Given the description of an element on the screen output the (x, y) to click on. 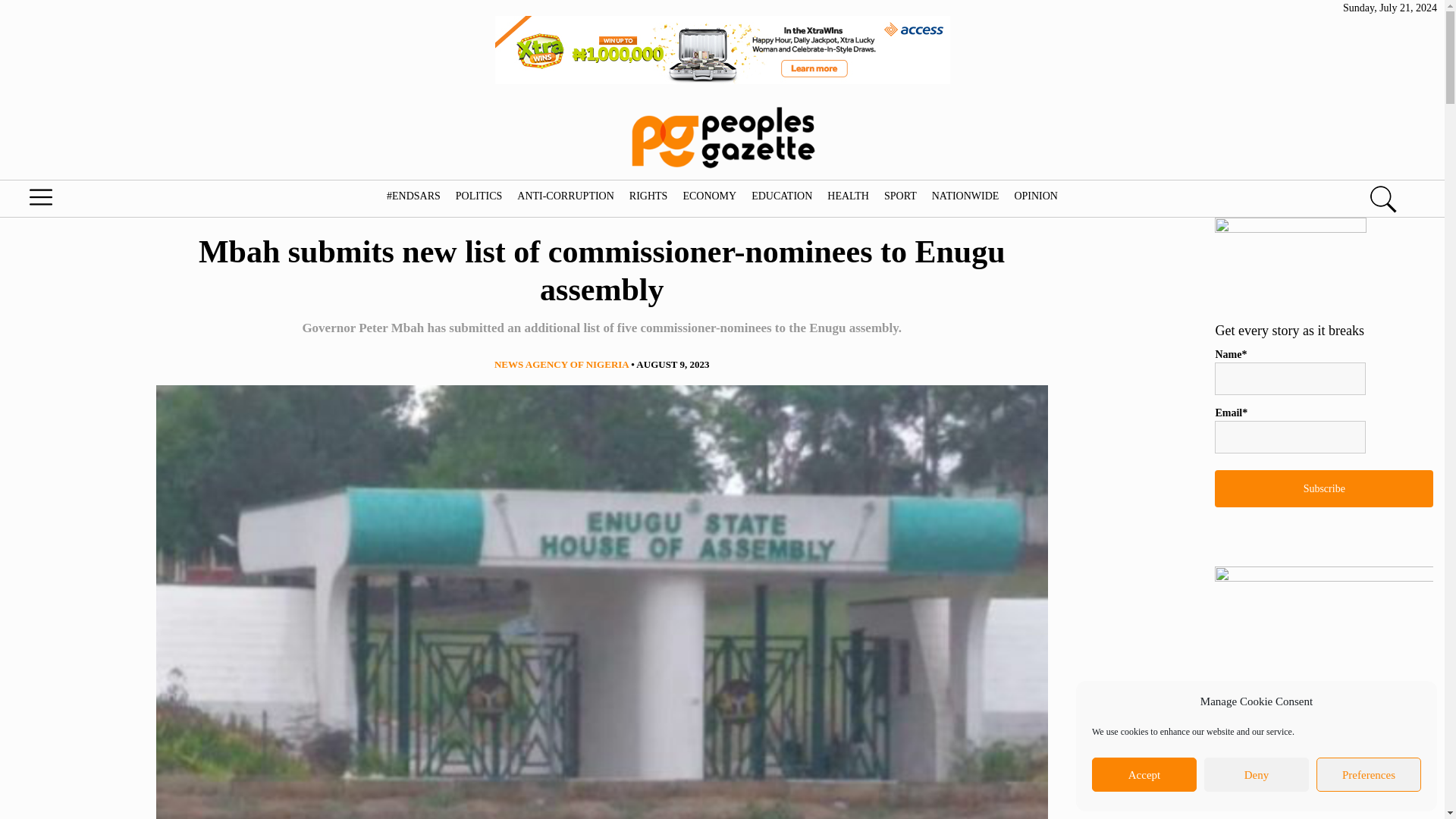
Subscribe (1323, 488)
POLITICS (478, 195)
Posts by News Agency of Nigeria (561, 364)
Deny (1256, 774)
NATIONWIDE (965, 195)
ANTI-CORRUPTION (565, 195)
RIGHTS (648, 195)
OPINION (1035, 195)
ECONOMY (708, 195)
Accept (1144, 774)
Preferences (1368, 774)
SPORT (900, 195)
HEALTH (848, 195)
EDUCATION (781, 195)
Menu (76, 200)
